Given the description of an element on the screen output the (x, y) to click on. 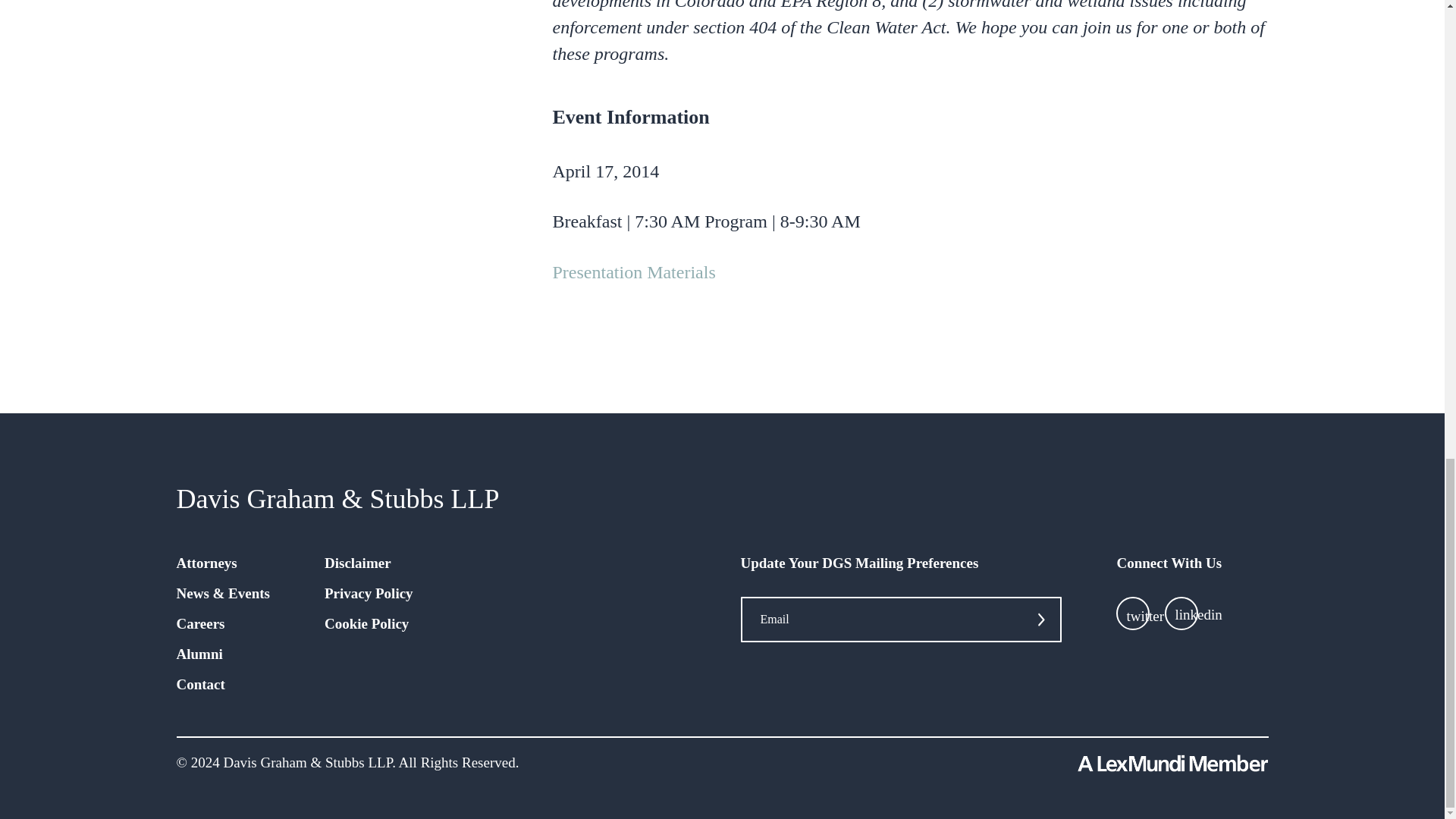
Attorneys (205, 562)
Contact (200, 684)
Presentation Materials (632, 271)
Alumni (199, 653)
Careers (200, 623)
Privacy Policy (368, 593)
Disclaimer (357, 562)
